Given the description of an element on the screen output the (x, y) to click on. 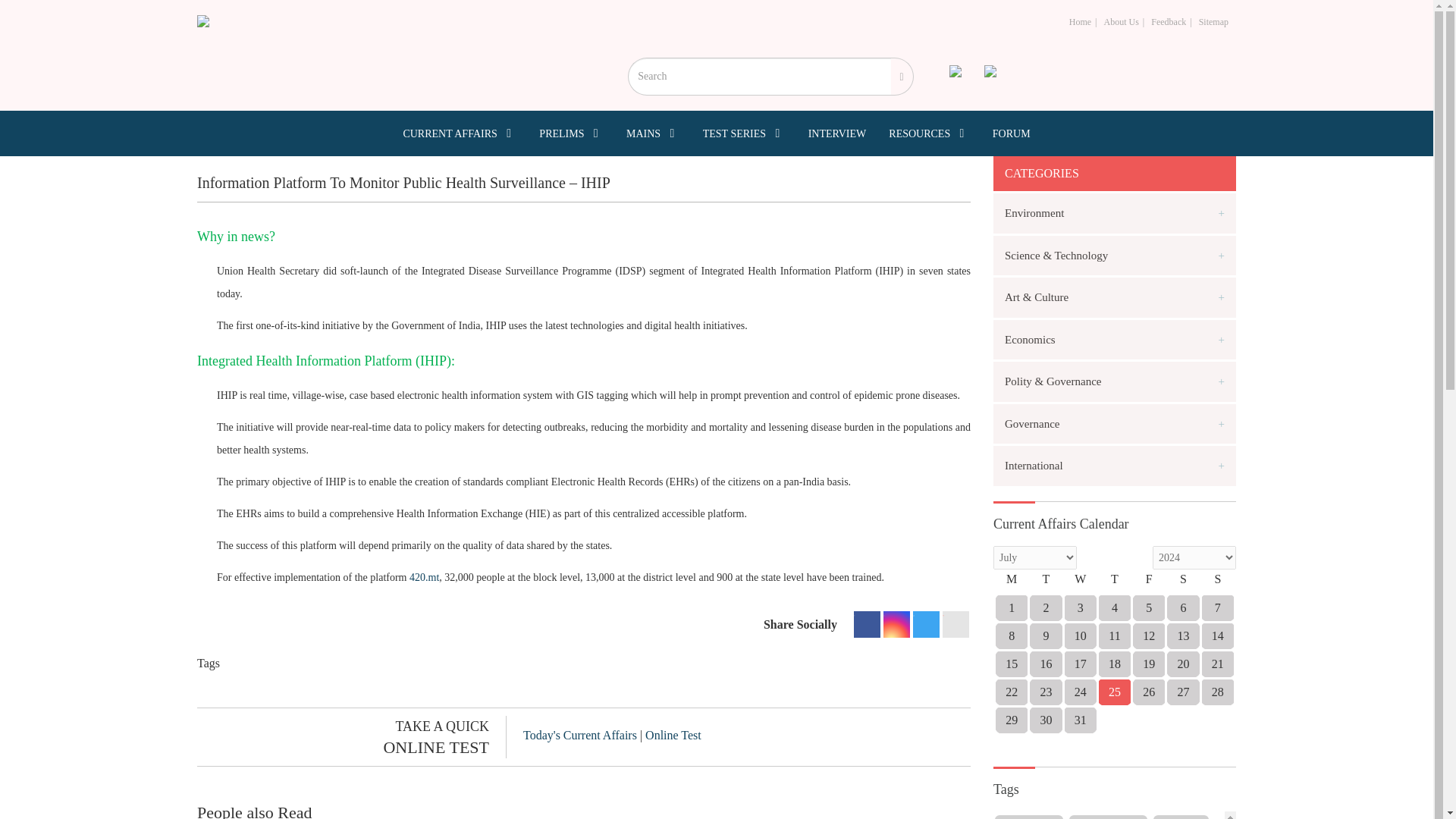
PRELIMS (571, 133)
Governance (1114, 423)
Saturday (1182, 583)
Friday (1149, 583)
Thursday (1114, 583)
IAS Gatewayy (202, 21)
Google Gmail (955, 624)
Sitemap (1213, 21)
Facebook (866, 624)
Economics (1114, 340)
TEST SERIES (744, 133)
About Us (1120, 21)
CURRENT AFFAIRS (459, 133)
Wednesday (1079, 583)
